Given the description of an element on the screen output the (x, y) to click on. 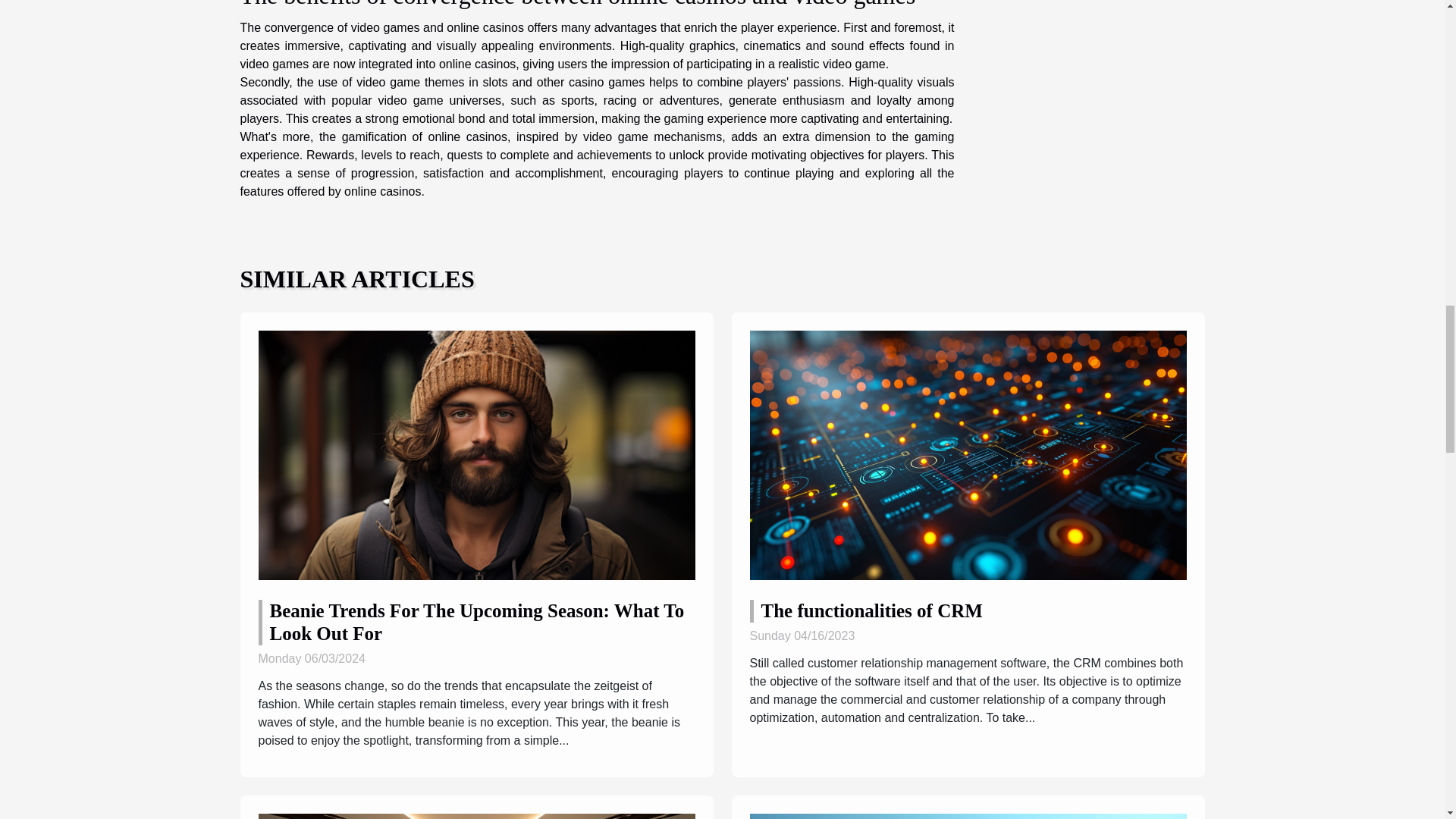
The functionalities of CRM (967, 453)
The functionalities of CRM (871, 610)
Beanie Trends For The Upcoming Season: What To Look Out For (476, 621)
The functionalities of CRM (871, 610)
Beanie Trends For The Upcoming Season: What To Look Out For (476, 621)
Beanie Trends For The Upcoming Season: What To Look Out For (475, 453)
